Given the description of an element on the screen output the (x, y) to click on. 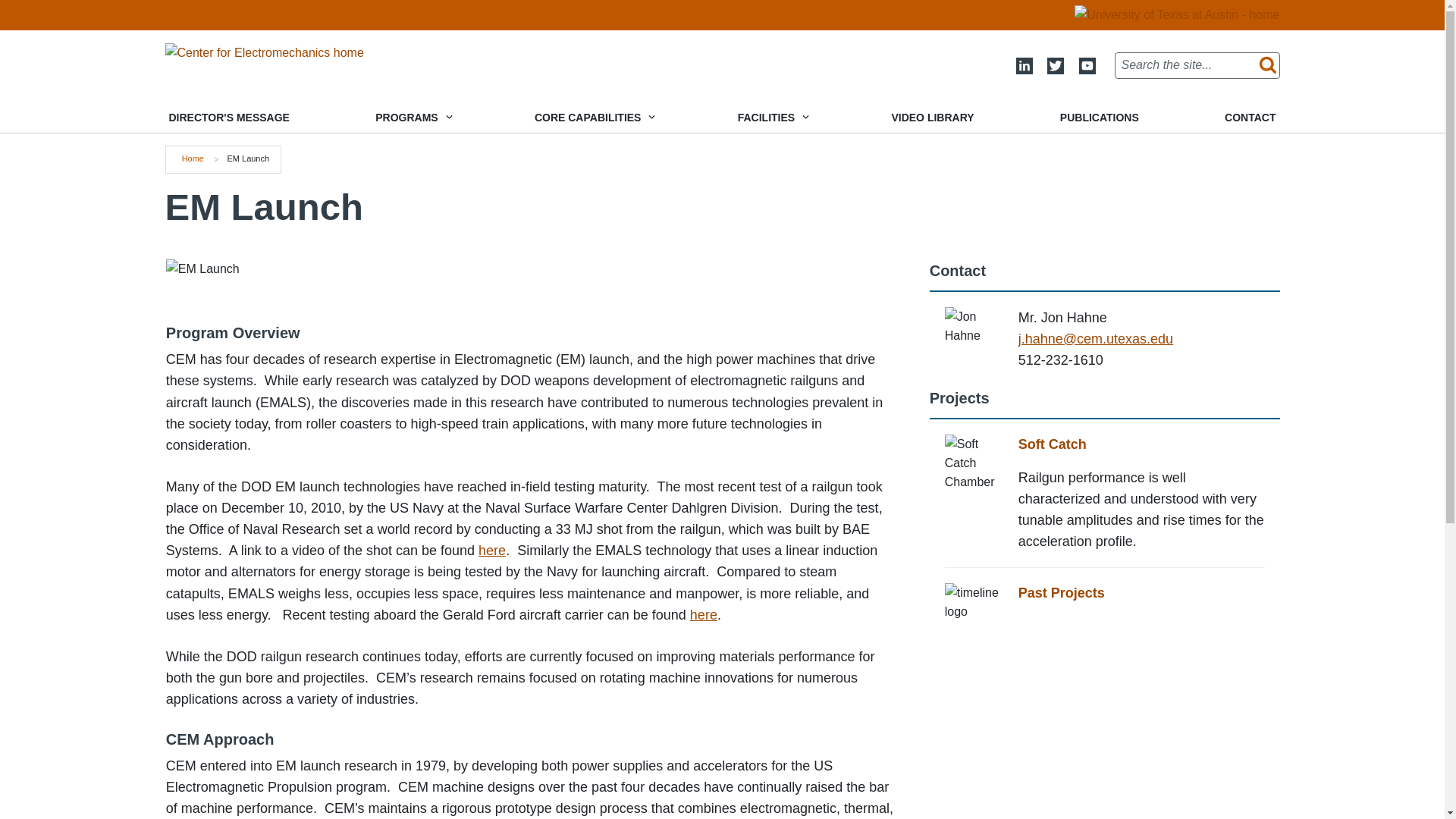
here (703, 614)
VIDEO LIBRARY (932, 118)
Search (1264, 64)
TwitterFind us on Twitter (1055, 65)
Home (192, 157)
Home (264, 51)
YoutubeSee us on Youtube (1086, 65)
CONTACT (1249, 118)
TwitterFind us on Twitter (1055, 65)
YoutubeSee us on Youtube (1086, 65)
